Given the description of an element on the screen output the (x, y) to click on. 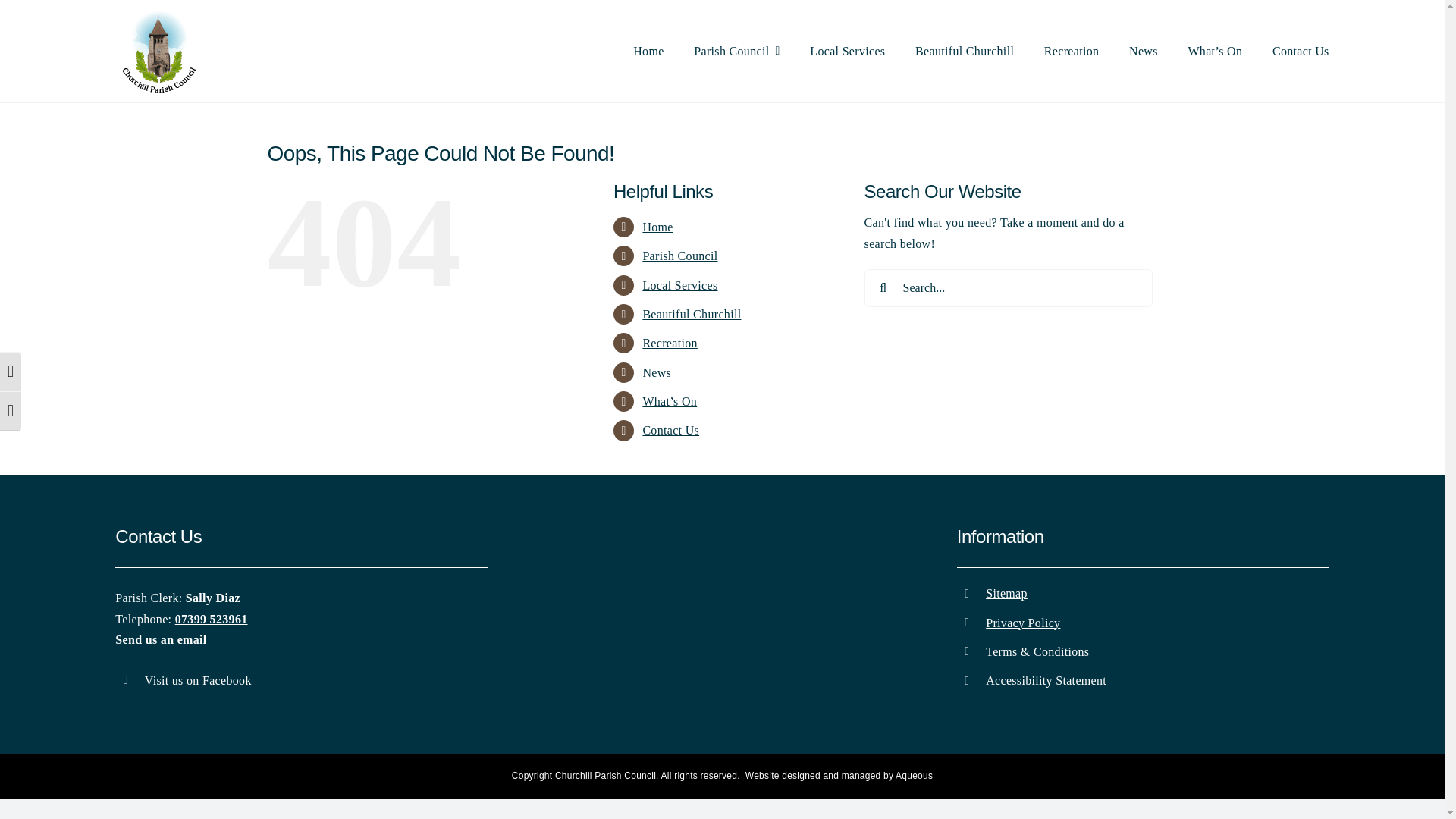
Contact Us (1300, 51)
Home (648, 51)
News (1143, 51)
Parish Council (679, 255)
Beautiful Churchill (964, 51)
News (656, 372)
Home (657, 226)
Recreation (1071, 51)
Local Services (679, 285)
Beautiful Churchill (691, 314)
Contact Us (670, 430)
Recreation (669, 342)
Parish Council (736, 51)
Local Services (847, 51)
